Given the description of an element on the screen output the (x, y) to click on. 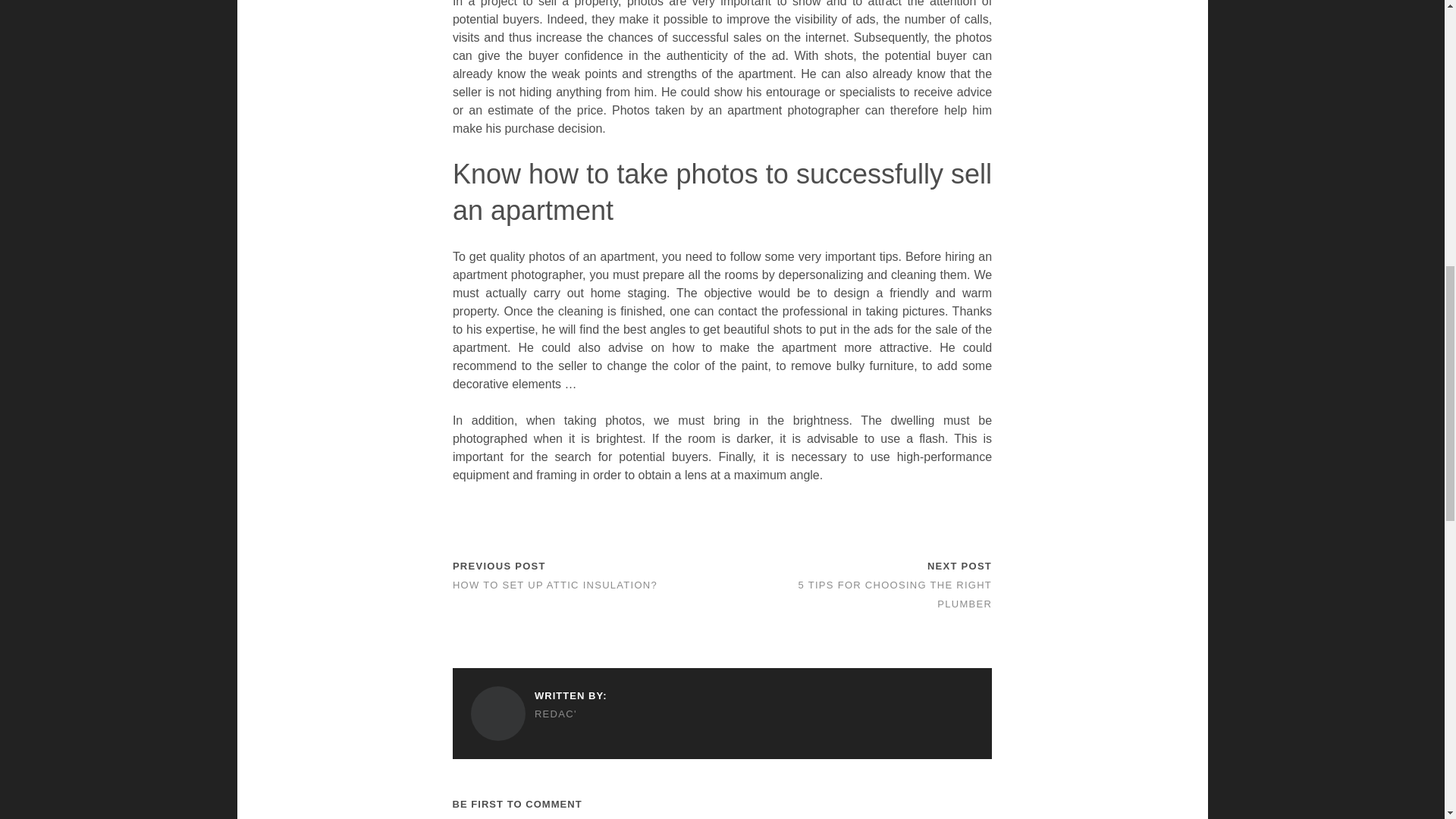
HOW TO SET UP ATTIC INSULATION? (555, 584)
Posts by Redac' (538, 714)
REDAC' (538, 714)
5 TIPS FOR CHOOSING THE RIGHT PLUMBER (894, 594)
